Given the description of an element on the screen output the (x, y) to click on. 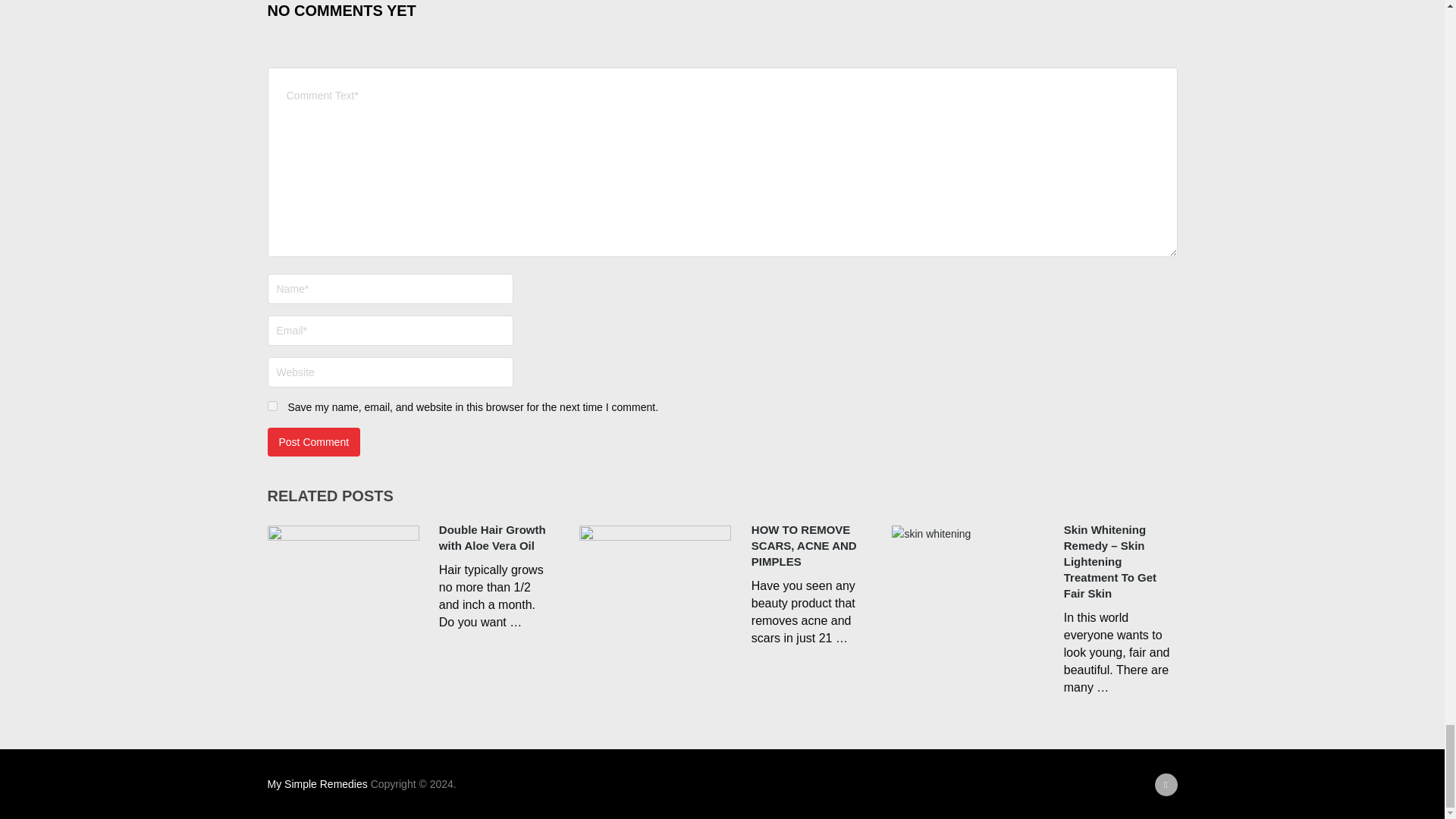
HOW TO REMOVE SCARS, ACNE AND PIMPLES (721, 545)
 Secret Remedies to Make You Beautiful (316, 784)
Double Hair Growth with Aloe Vera Oil (408, 537)
HOW TO REMOVE SCARS, ACNE AND PIMPLES (654, 577)
Double Hair Growth with Aloe Vera Oil (342, 577)
Post Comment (312, 441)
yes (271, 406)
